Given the description of an element on the screen output the (x, y) to click on. 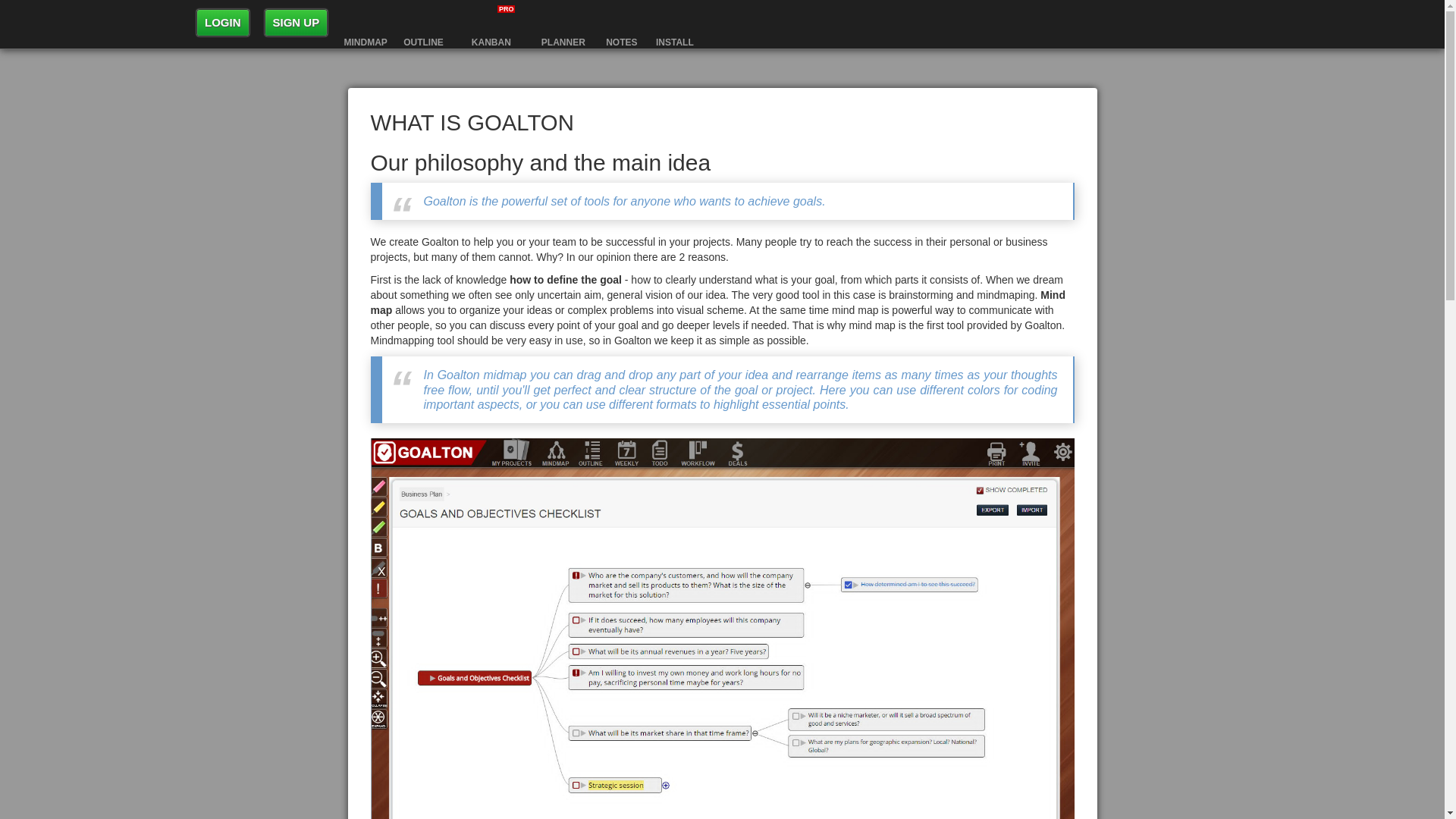
 INSTALL (674, 23)
Login (222, 22)
Google Play (674, 23)
SIGN UP (295, 22)
 KANBAN (491, 23)
 PLANNER (563, 23)
LOGIN (222, 22)
 NOTES (621, 23)
 MINDMAP (365, 23)
